Given the description of an element on the screen output the (x, y) to click on. 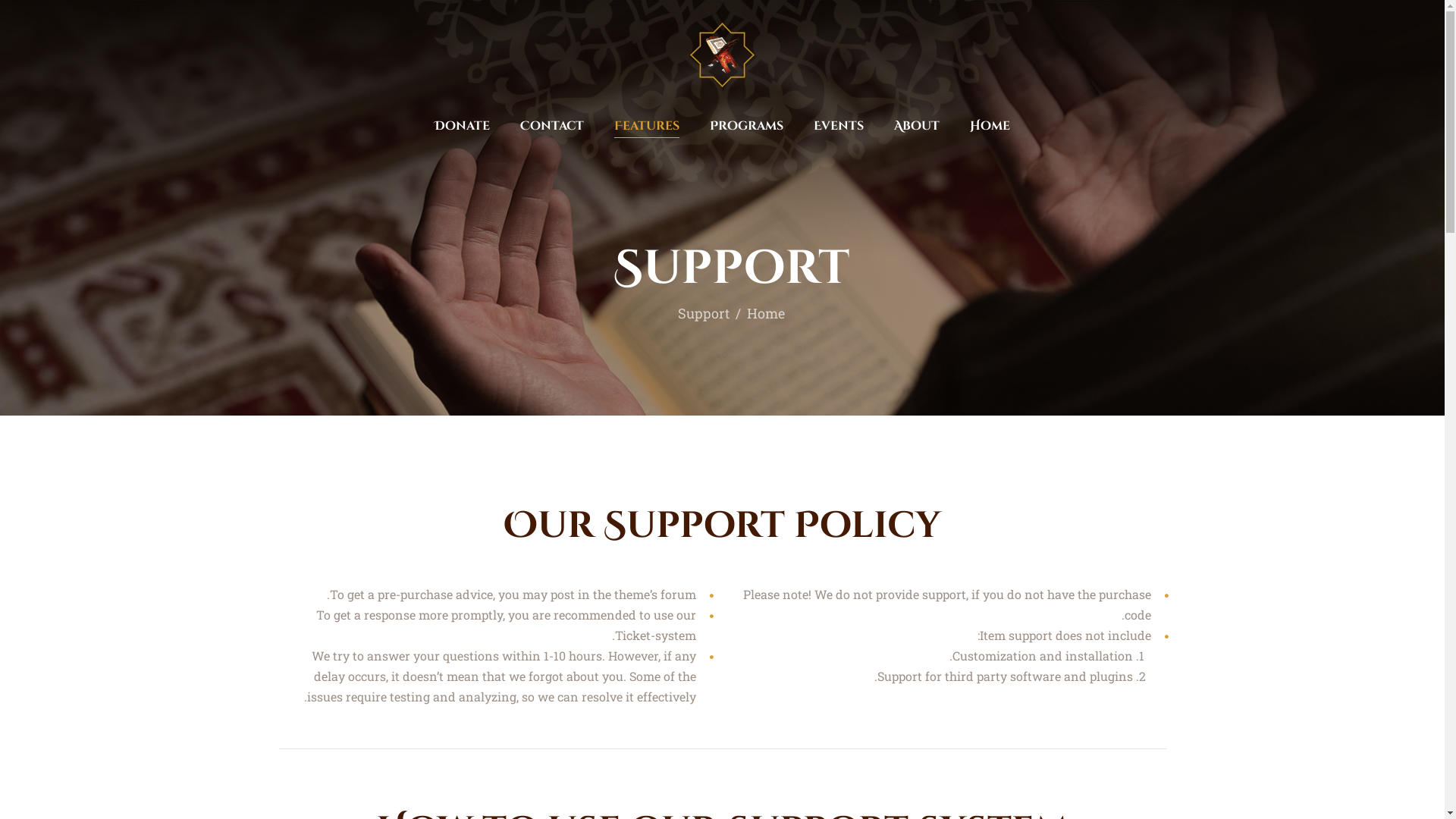
About Element type: text (916, 125)
Events Element type: text (838, 125)
Features Element type: text (646, 125)
Programs Element type: text (746, 125)
Home Element type: text (765, 313)
Home Element type: text (989, 125)
Contact Element type: text (552, 125)
Donate Element type: text (462, 125)
